Given the description of an element on the screen output the (x, y) to click on. 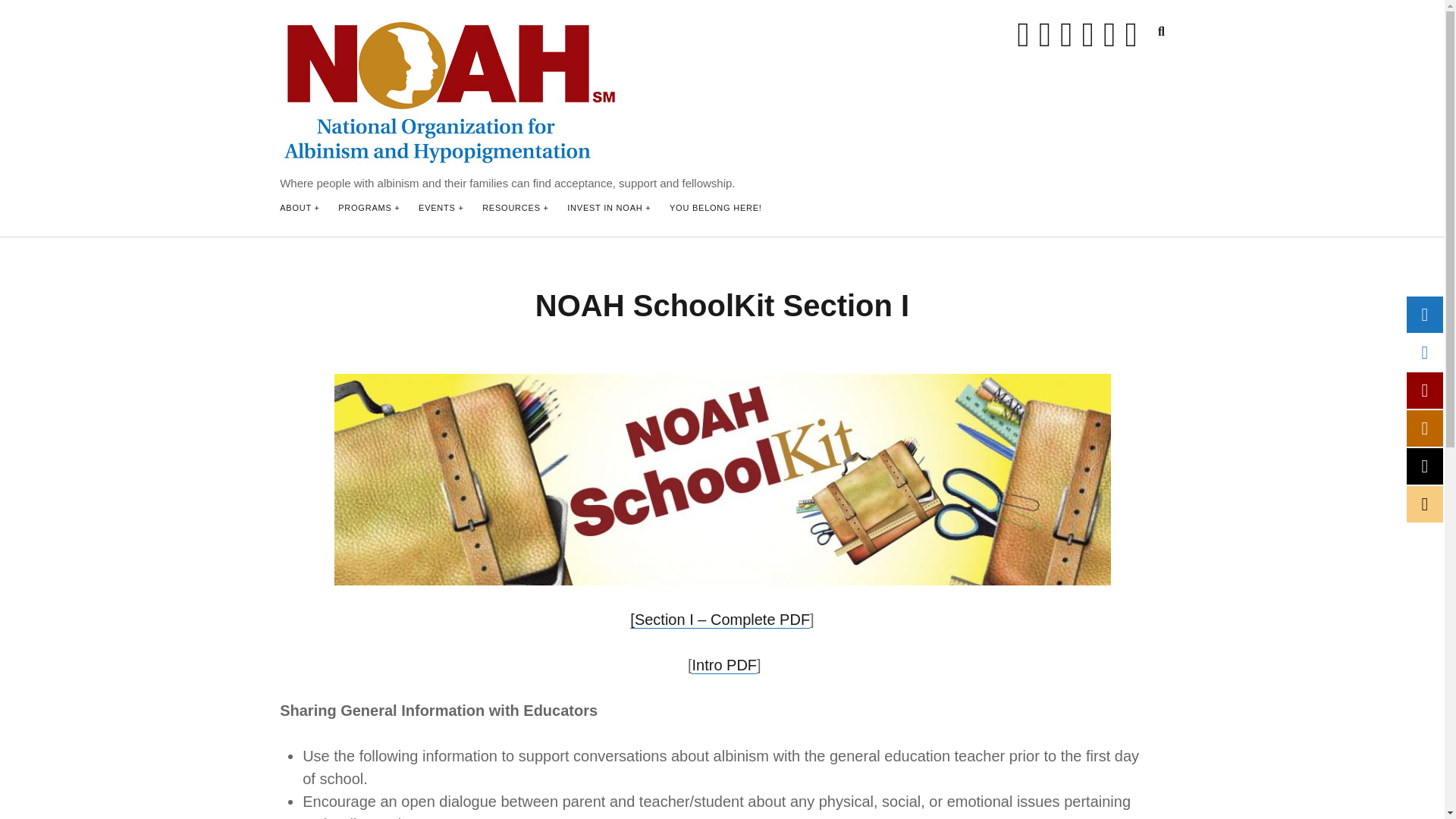
National Organization for Albinism and Hypopigmentation (449, 160)
PROGRAMS (367, 208)
ABOUT (299, 208)
